Given the description of an element on the screen output the (x, y) to click on. 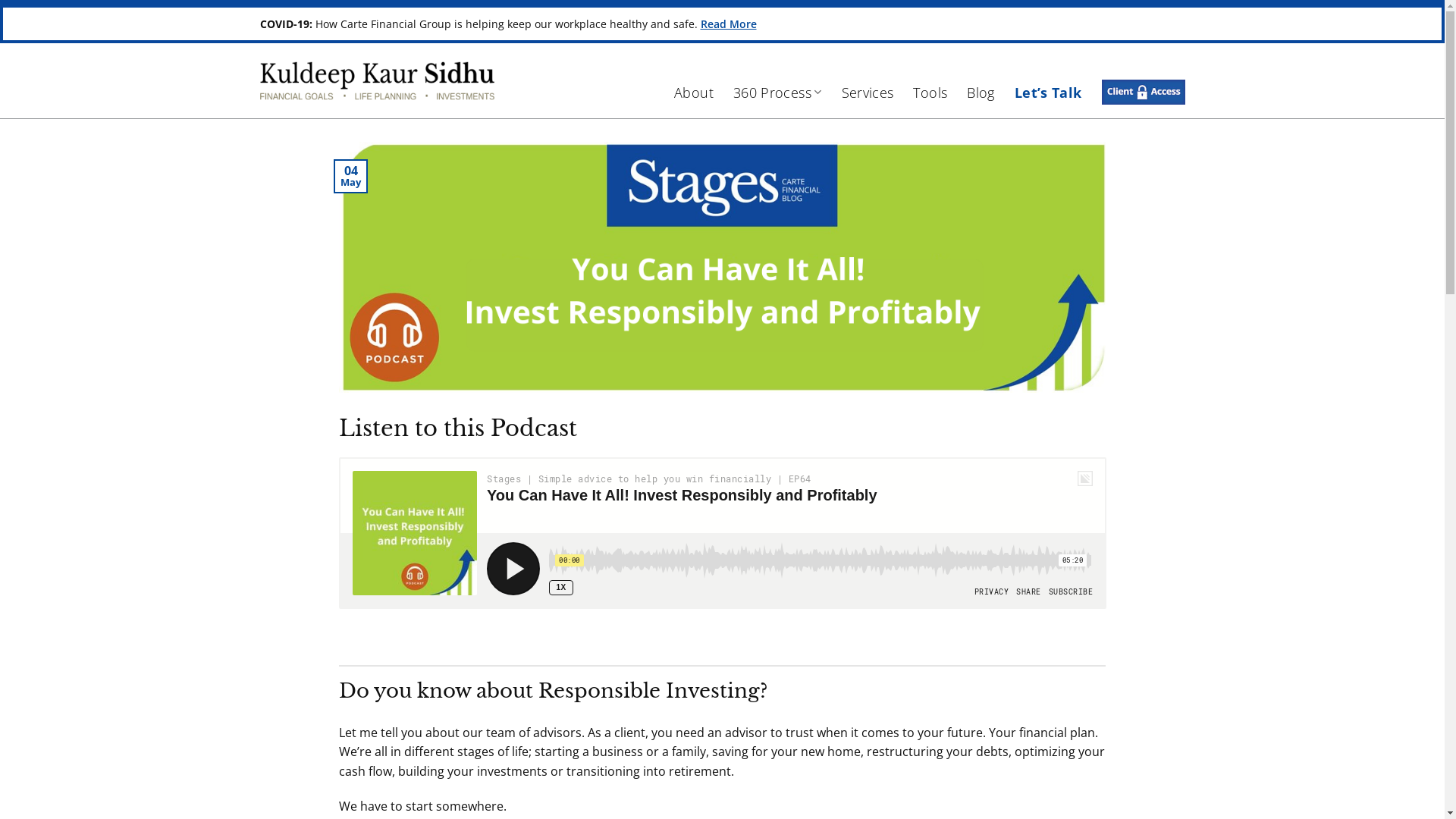
Deep Kaur Khattra - Your Carte Financial Advisor Element type: hover (376, 80)
Blog Element type: text (980, 92)
Services Element type: text (867, 92)
About Element type: text (693, 92)
Tools Element type: text (930, 92)
360 Process Element type: text (777, 91)
Read More Element type: text (728, 23)
